Given the description of an element on the screen output the (x, y) to click on. 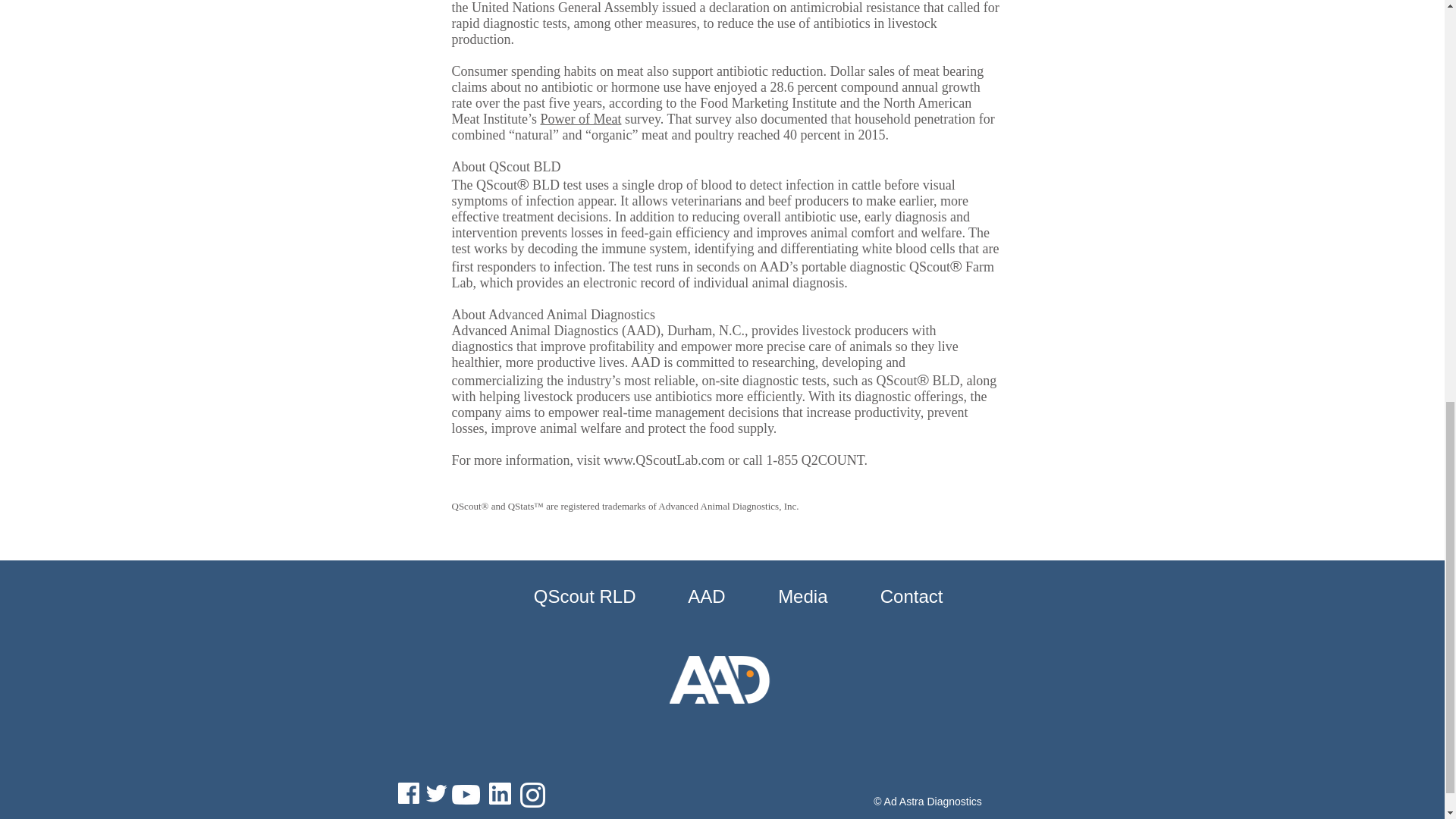
www.QScoutLab.com (664, 459)
Contact (892, 596)
AAD (687, 596)
Power of Meat (580, 118)
Media (783, 596)
QScout RLD (568, 596)
